Given the description of an element on the screen output the (x, y) to click on. 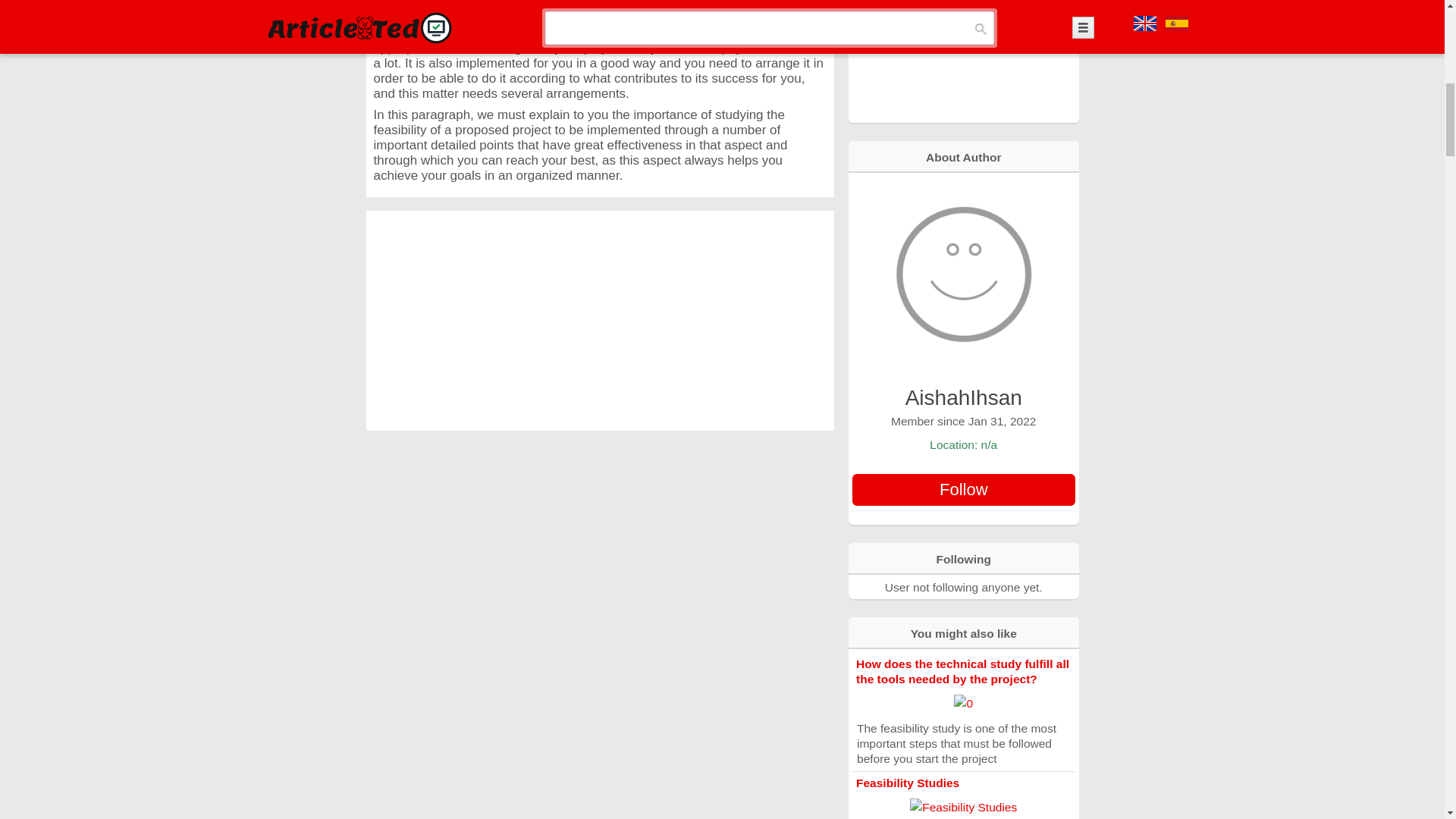
Feasibility Studies (907, 782)
Follow (963, 490)
feasibility study (442, 32)
